Given the description of an element on the screen output the (x, y) to click on. 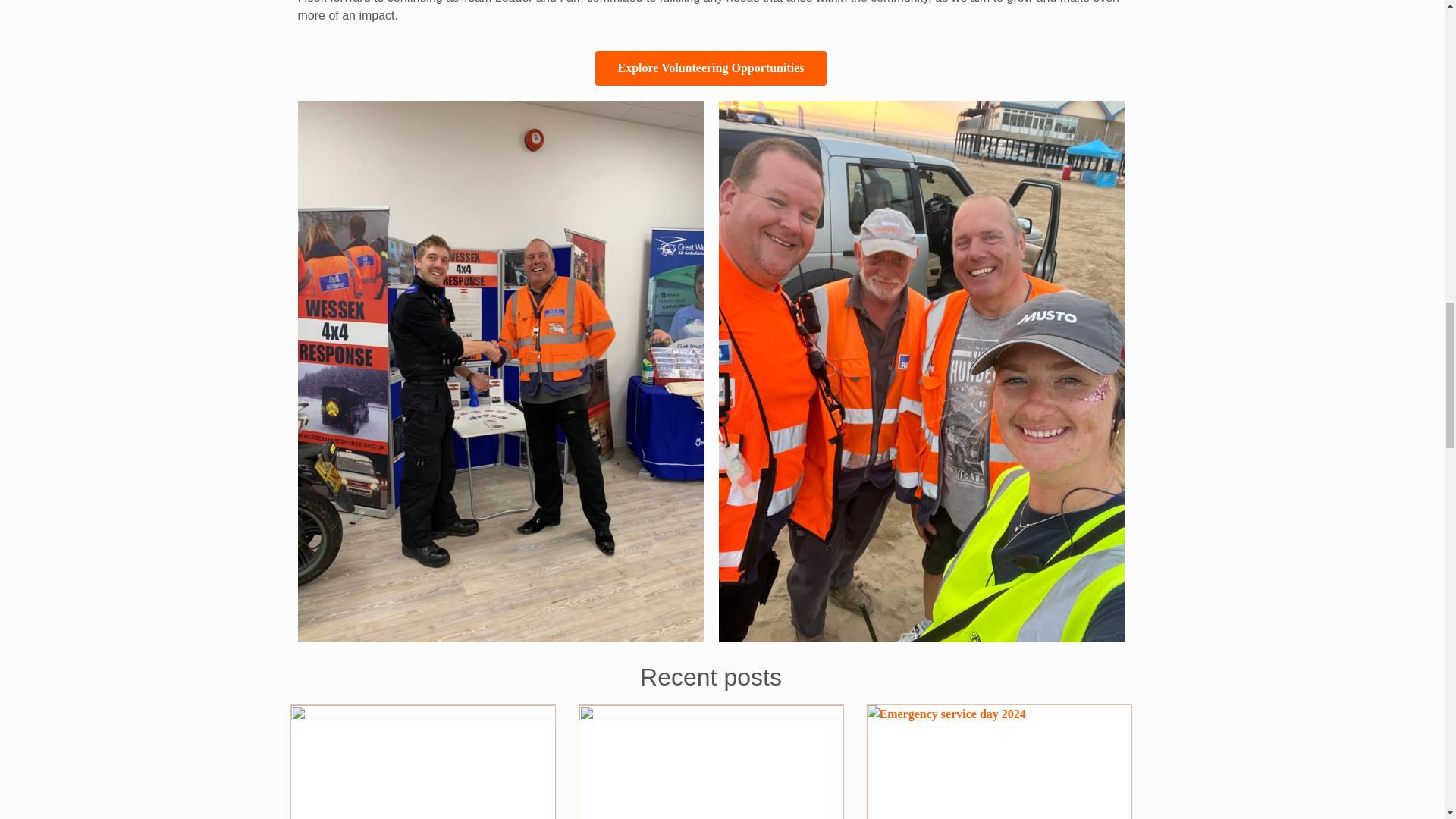
Explore Volunteering Opportunities (711, 67)
